Given the description of an element on the screen output the (x, y) to click on. 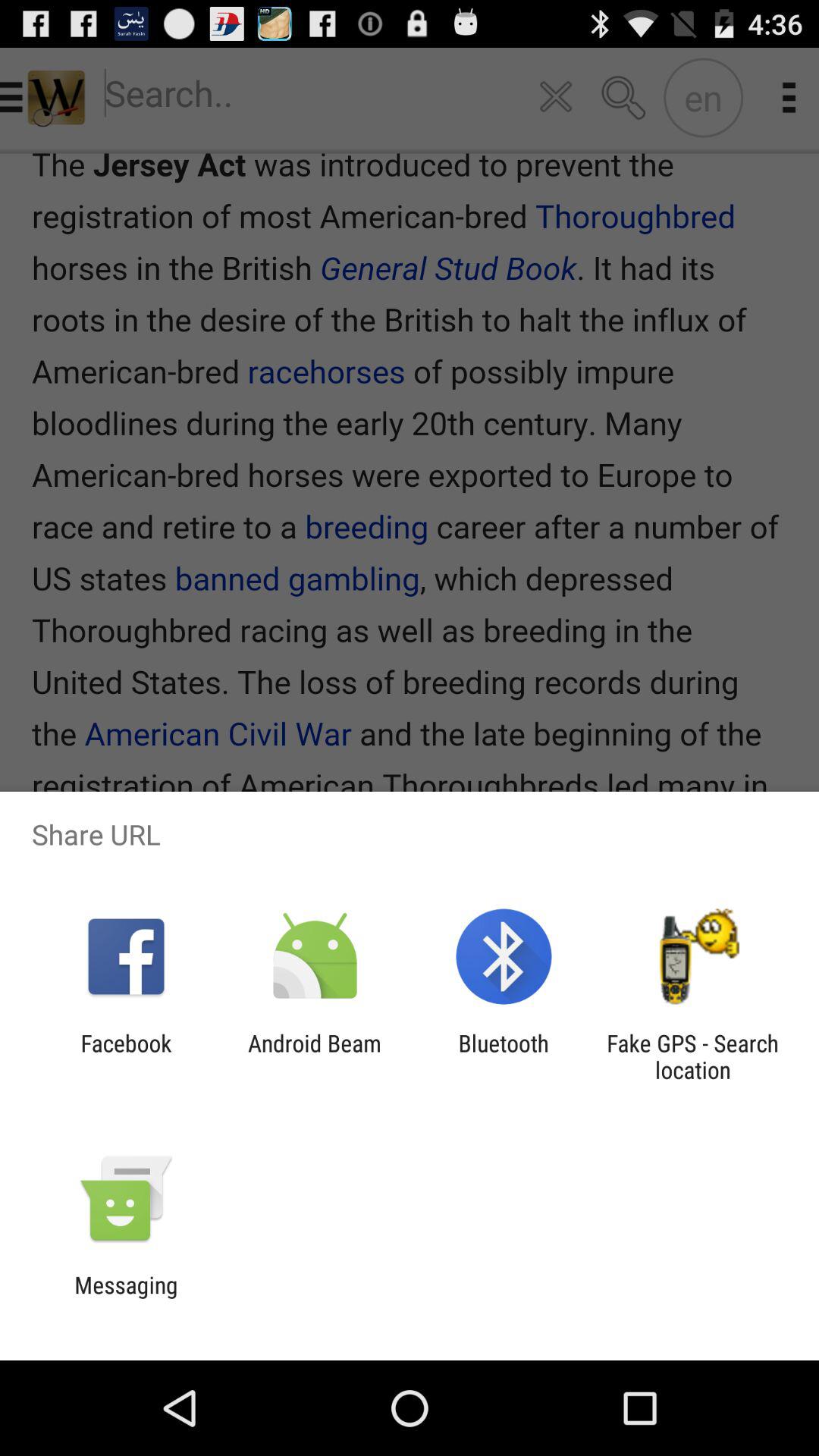
turn on icon next to android beam item (125, 1056)
